Given the description of an element on the screen output the (x, y) to click on. 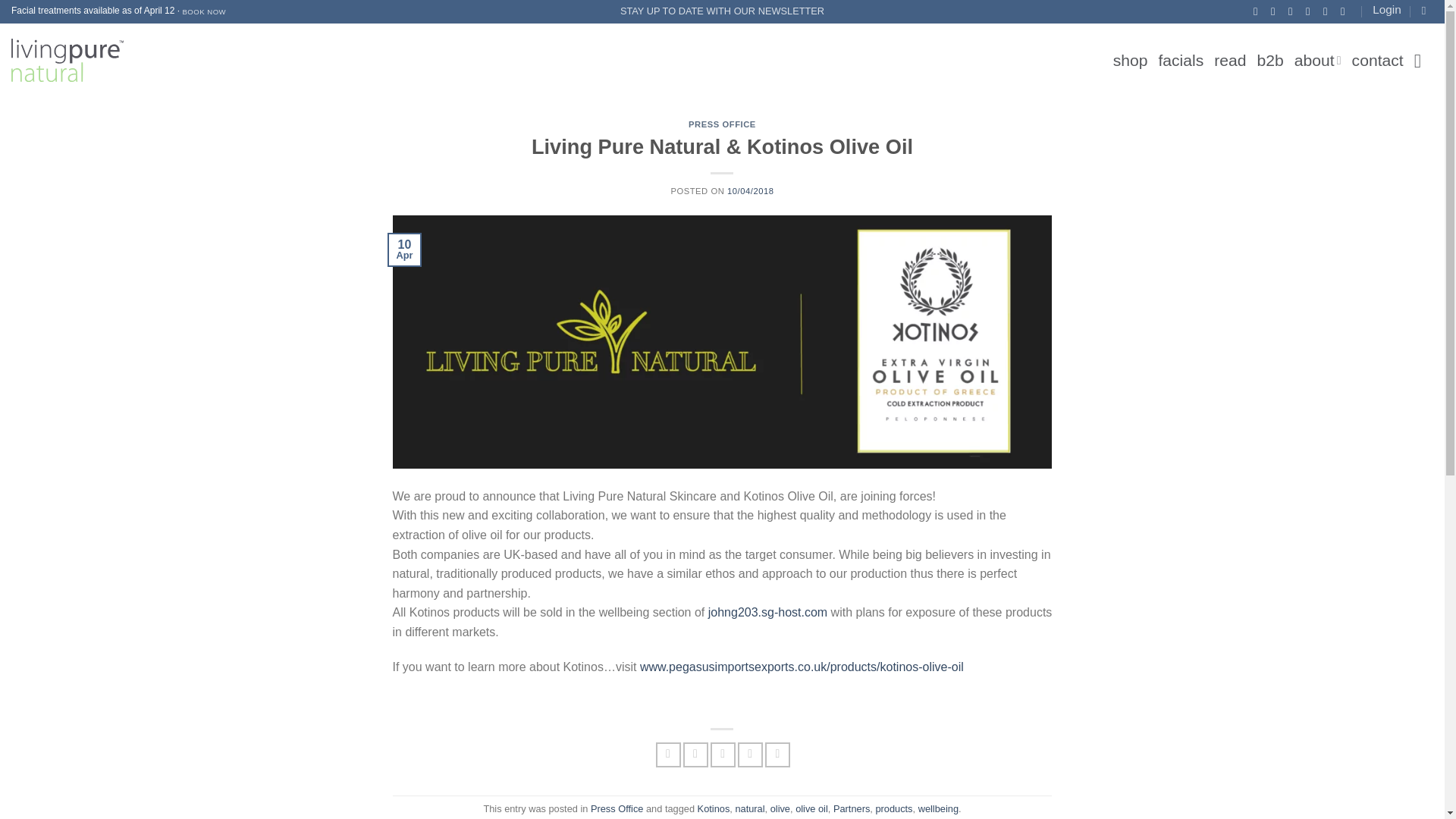
read (1230, 60)
PRESS OFFICE (721, 123)
Follow on LinkedIn (1328, 10)
about (1317, 60)
Share on Facebook (668, 754)
Follow on Pinterest (1311, 10)
natural (749, 808)
Sign up for Newsletter (722, 11)
Email to a Friend (722, 754)
Kotinos (713, 808)
contact (1377, 60)
Living Pure Natural - The experts in all natural skincare (67, 59)
Login (1386, 9)
Follow on TikTok (1293, 10)
shop (1130, 60)
